Given the description of an element on the screen output the (x, y) to click on. 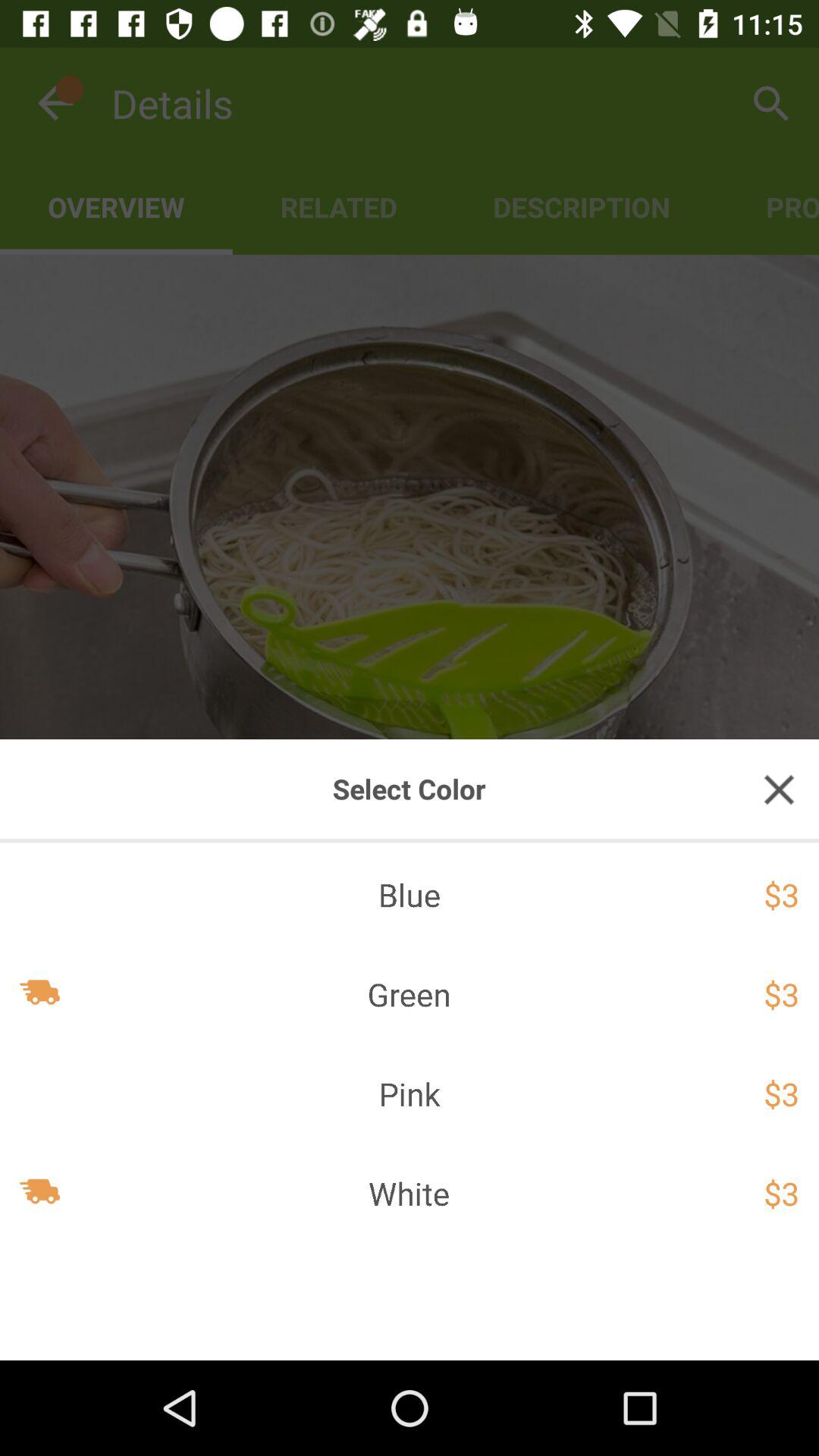
close page (779, 788)
